Given the description of an element on the screen output the (x, y) to click on. 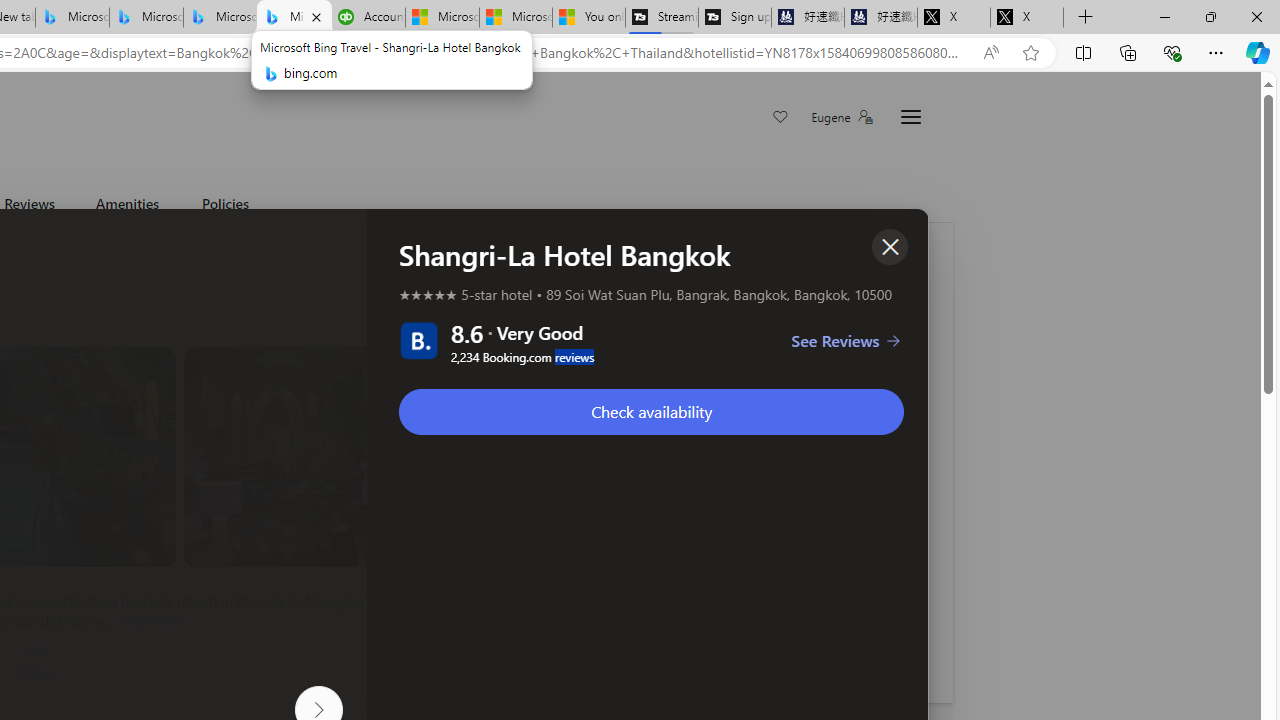
Microsoft Bing Travel - Stays in Bangkok, Bangkok, Thailand (146, 17)
Accounting Software for Accountants, CPAs and Bookkeepers (367, 17)
